Given the description of an element on the screen output the (x, y) to click on. 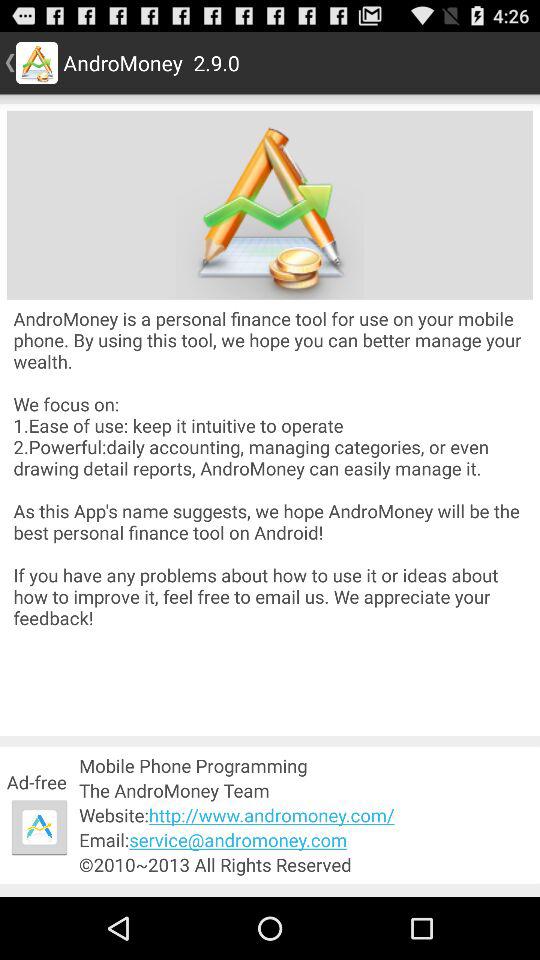
jump until website http www app (306, 814)
